Given the description of an element on the screen output the (x, y) to click on. 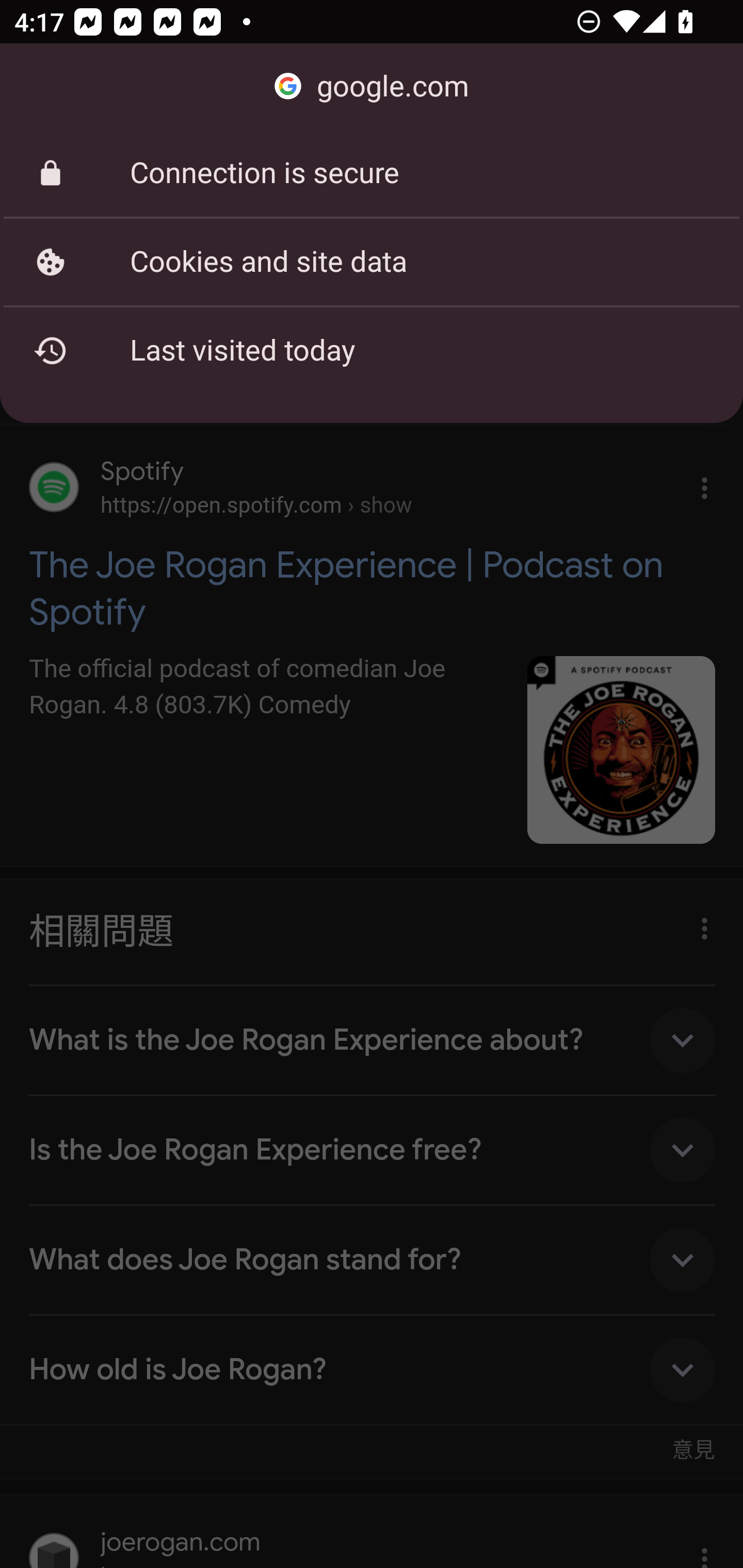
google.com (371, 86)
Connection is secure (371, 173)
Cookies and site data (371, 261)
Last visited today (371, 350)
